Given the description of an element on the screen output the (x, y) to click on. 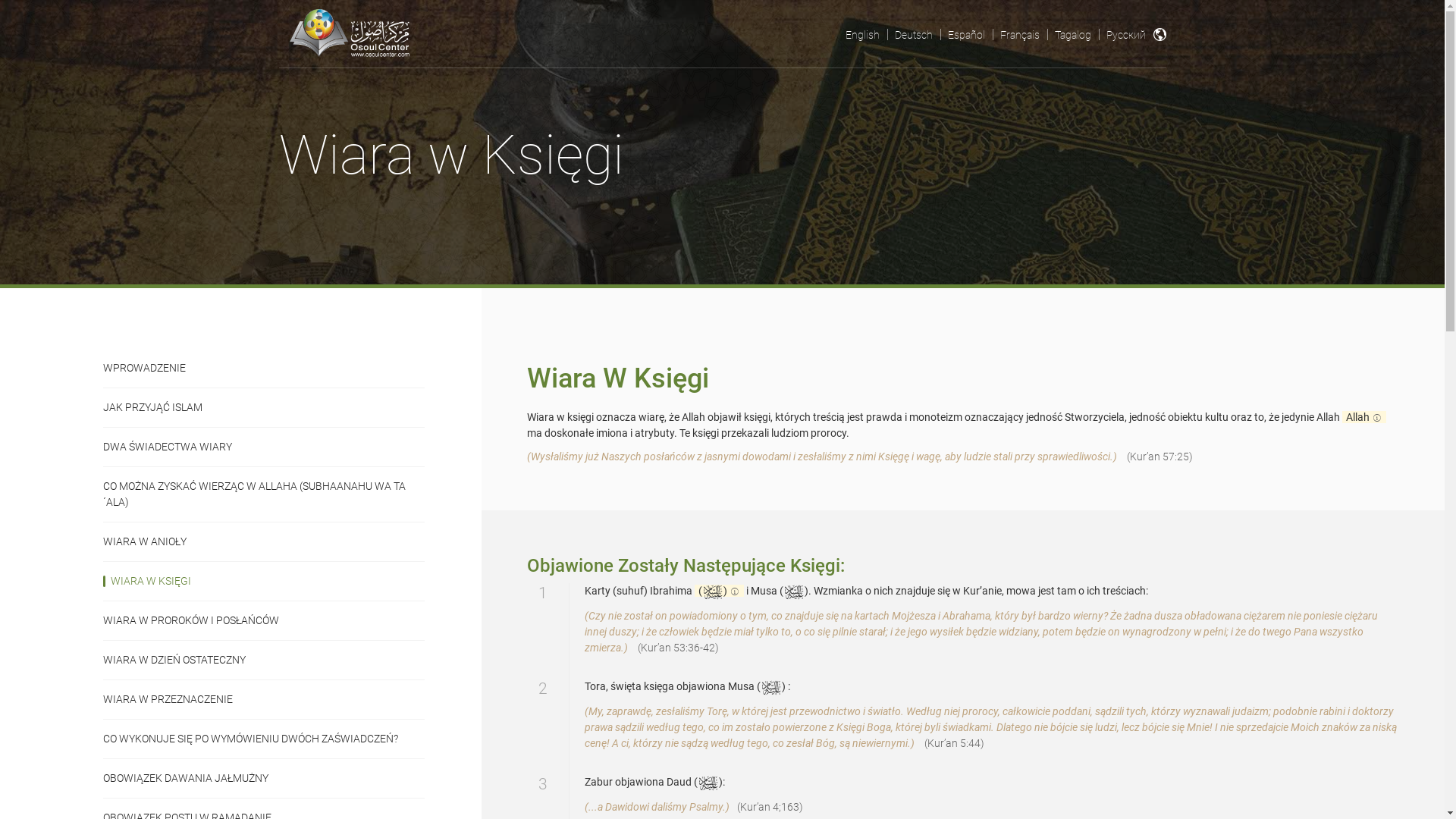
English Element type: text (861, 35)
WIARA W PRZEZNACZENIE Element type: text (263, 698)
WPROWADZENIE Element type: text (263, 367)
Tagalog Element type: text (1072, 35)
Deutsch Element type: text (913, 35)
